Given the description of an element on the screen output the (x, y) to click on. 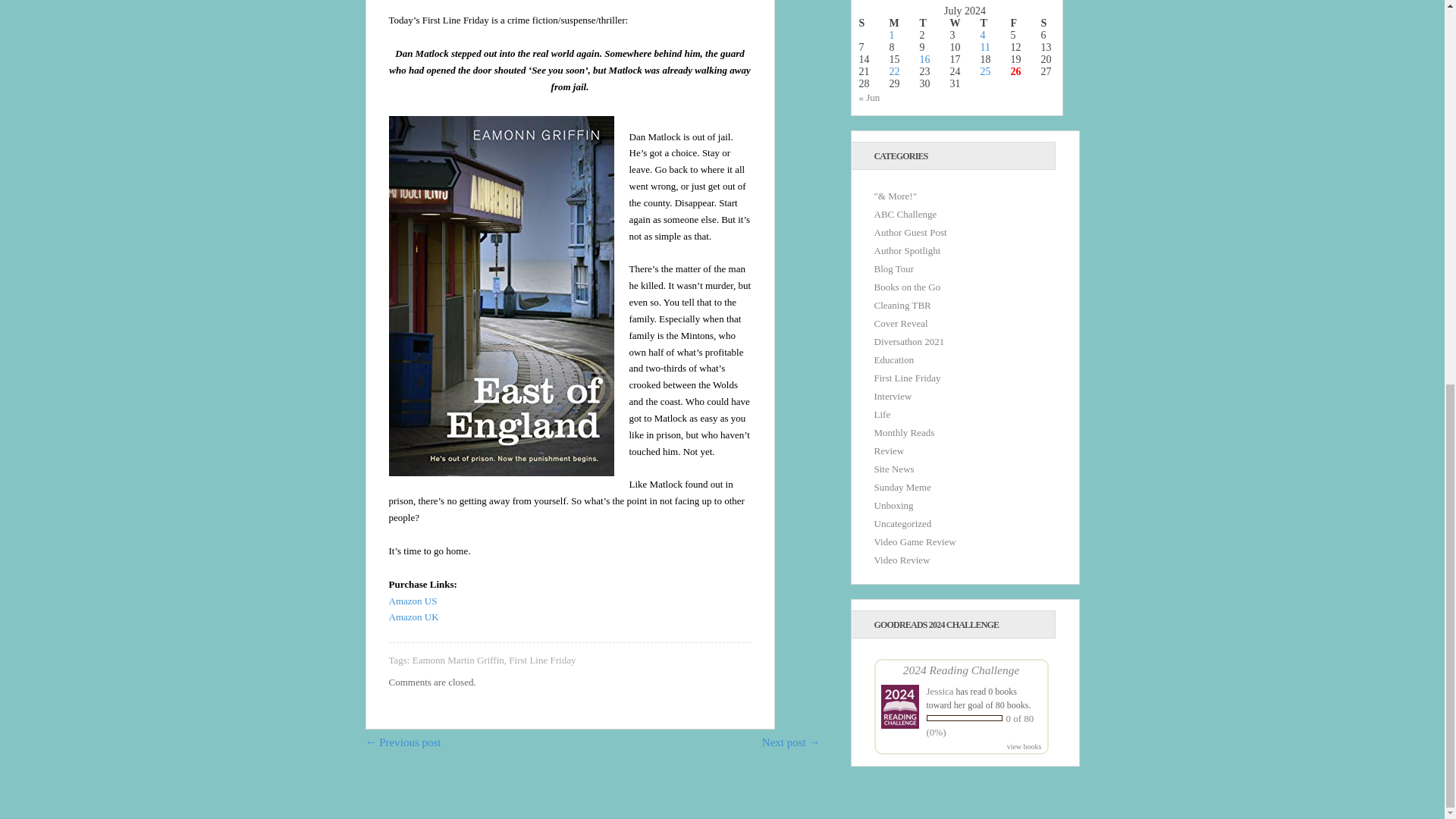
First Line Friday (906, 378)
ABC Challenge (904, 214)
Monday (903, 23)
25 (984, 71)
First Line Friday (541, 659)
Cover Reveal (900, 323)
Amazon US (412, 600)
Cleaning TBR (901, 305)
Blog Tour (893, 268)
Diversathon 2021 (908, 341)
Interview (892, 396)
Friday (1025, 23)
22 (893, 71)
Author Spotlight (906, 250)
Education (893, 359)
